Given the description of an element on the screen output the (x, y) to click on. 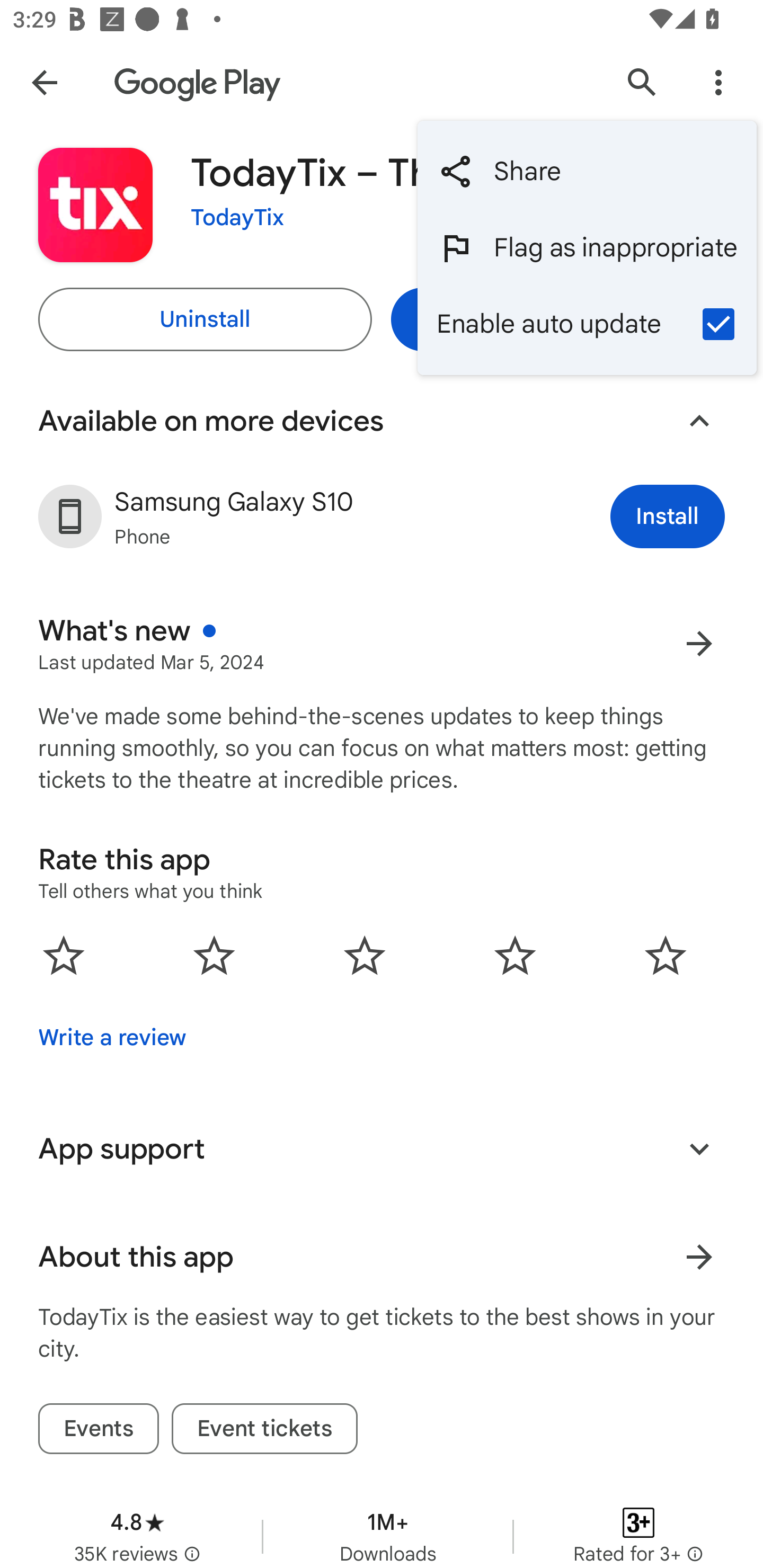
Share (586, 171)
Flag as inappropriate (586, 247)
Checked Enable auto update (586, 323)
